Given the description of an element on the screen output the (x, y) to click on. 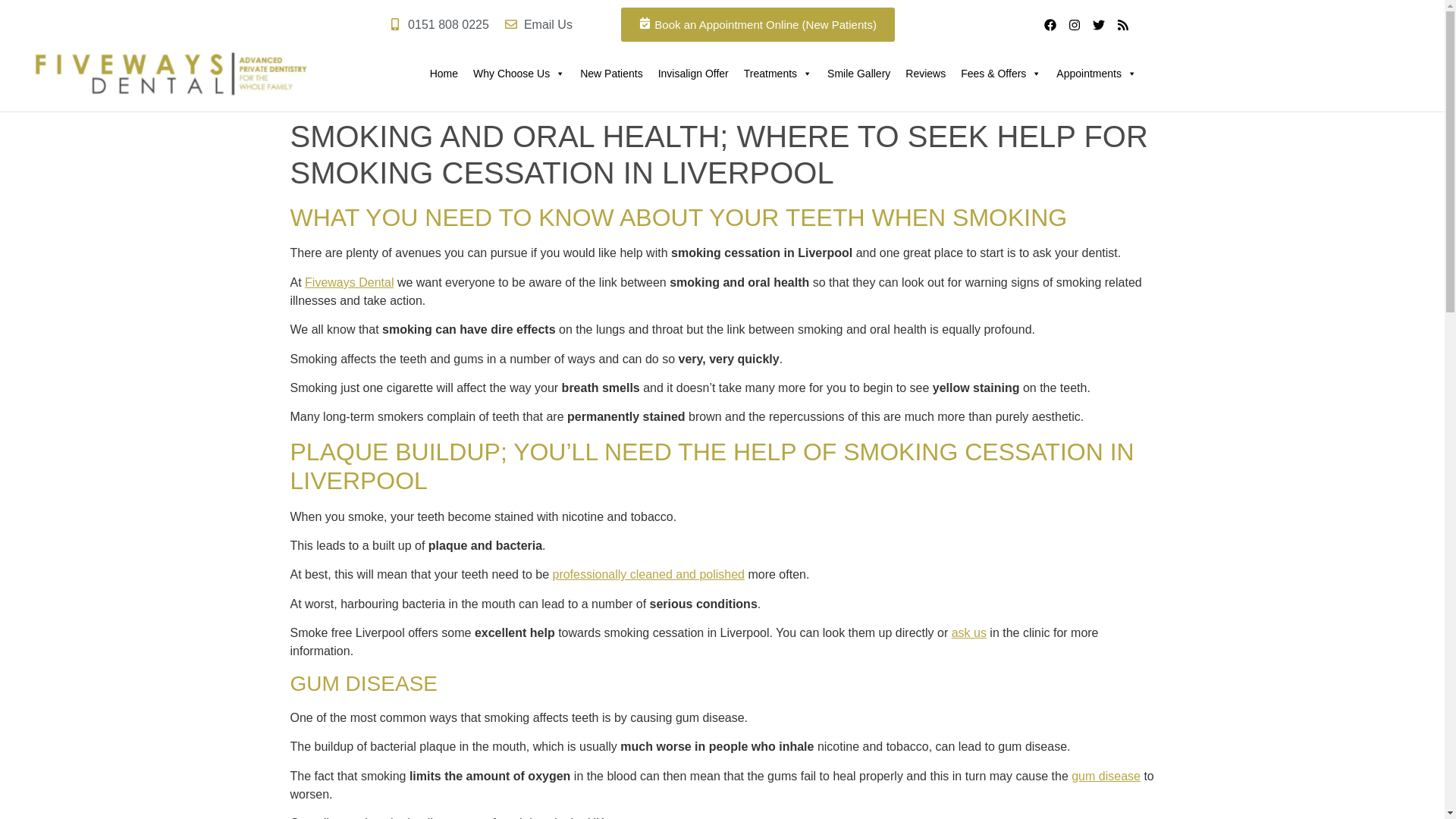
New Patients (610, 73)
Email Us (538, 24)
Invisalign Offer (693, 73)
Why Choose Us (518, 73)
0151 808 0225 (438, 24)
Treatments (777, 73)
